Given the description of an element on the screen output the (x, y) to click on. 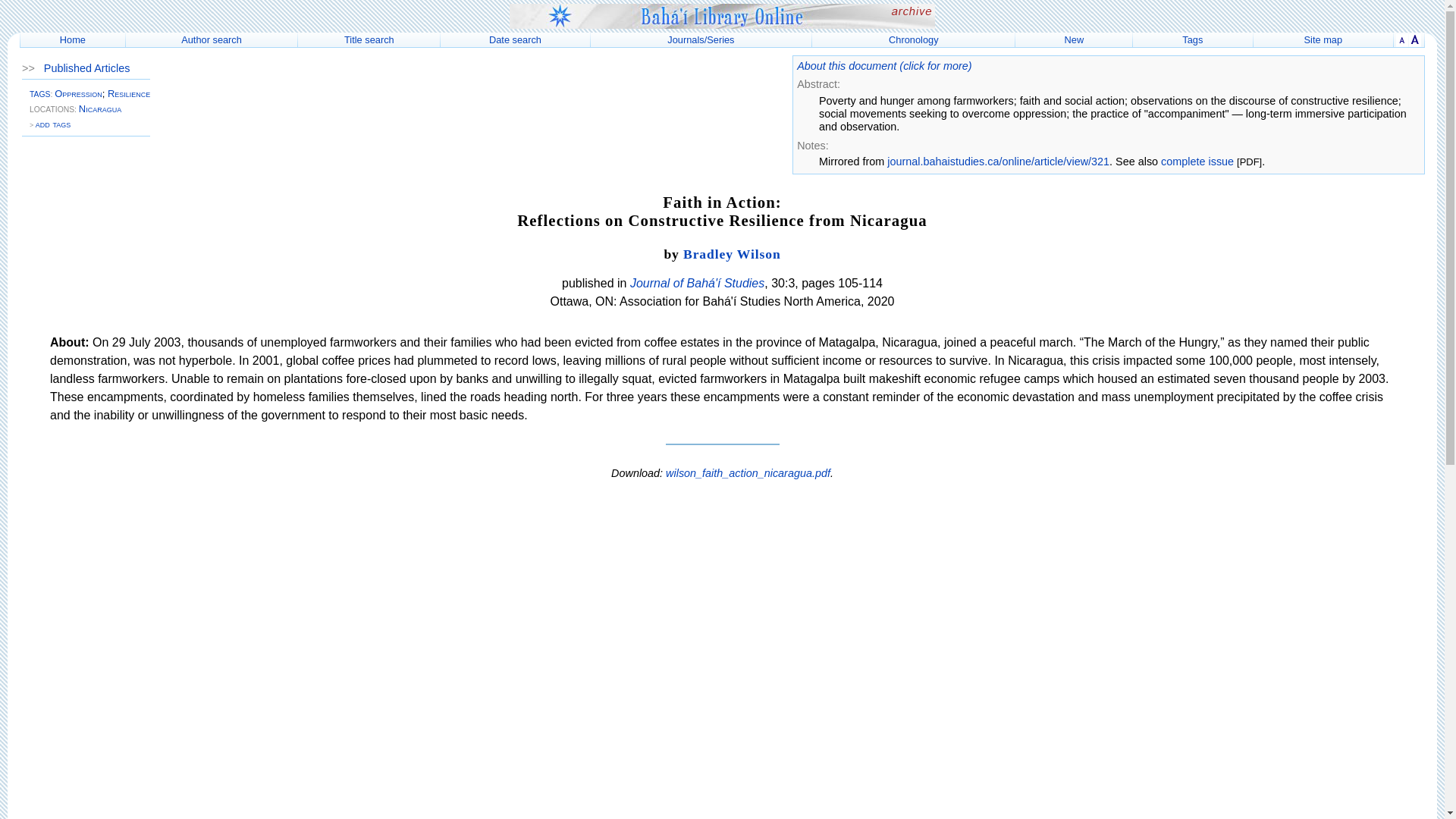
Tags (1192, 39)
Oppression (78, 93)
New (1074, 39)
Author search (210, 39)
Home (72, 39)
Published Articles (87, 68)
Resilience (128, 93)
TAGS (39, 94)
complete issue (1196, 161)
Title search (368, 39)
Chronology (912, 39)
Bradley Wilson (731, 253)
Site map (1323, 39)
add tags (51, 123)
Date search (515, 39)
